Given the description of an element on the screen output the (x, y) to click on. 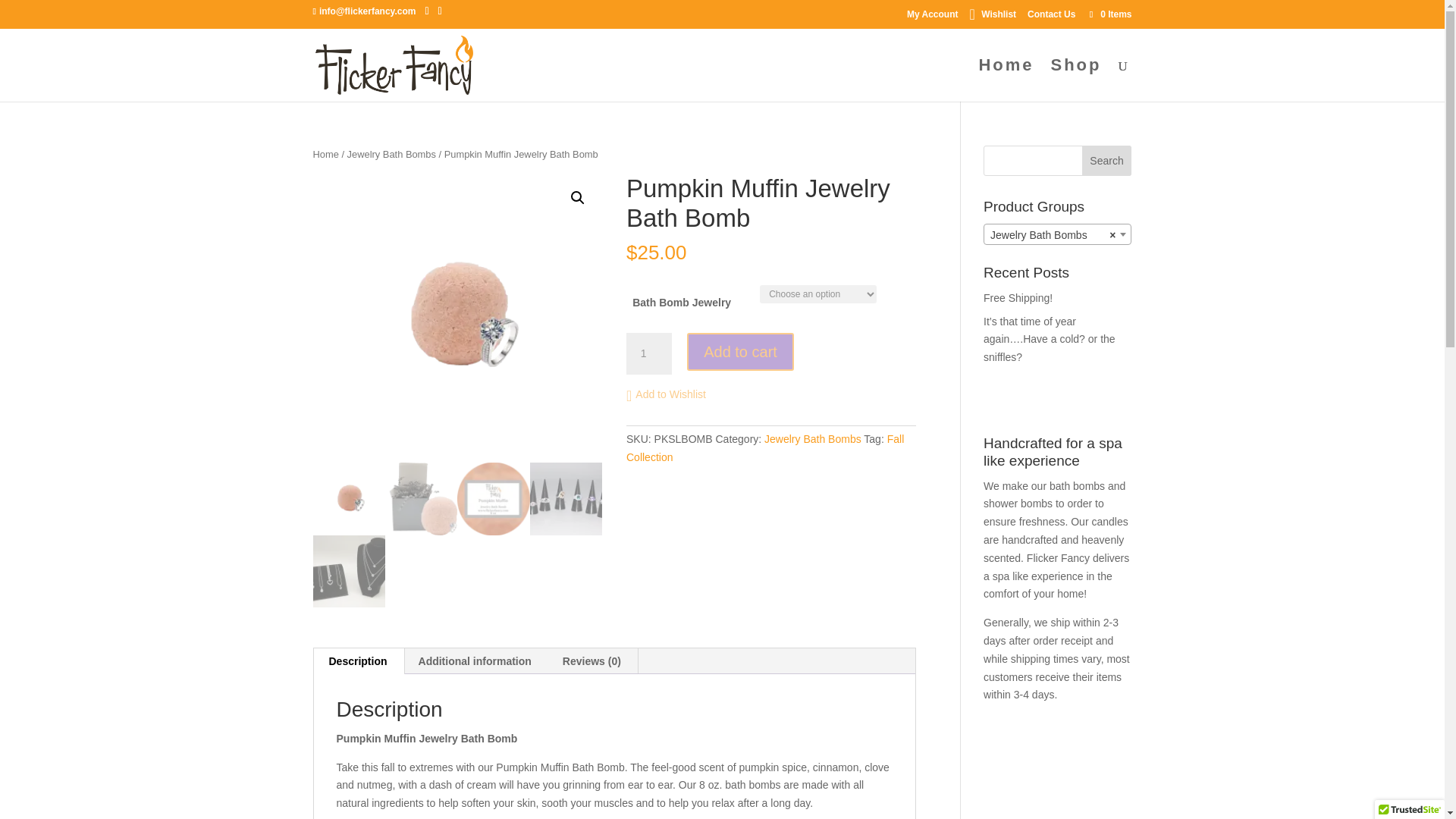
Jewelry Bath Bombs (391, 153)
My Account (932, 17)
Jewelry Bath Bombs (812, 439)
0 Items (1108, 14)
Home (1005, 80)
Fall Collection (765, 448)
Add to Wishlist (666, 394)
Description (358, 661)
Shop (1076, 80)
Additional information (474, 661)
Add to cart (740, 351)
Home (325, 153)
Search (1106, 160)
1 (648, 353)
Pumpkin Muffin Jewelry Bath Bomb (457, 318)
